Given the description of an element on the screen output the (x, y) to click on. 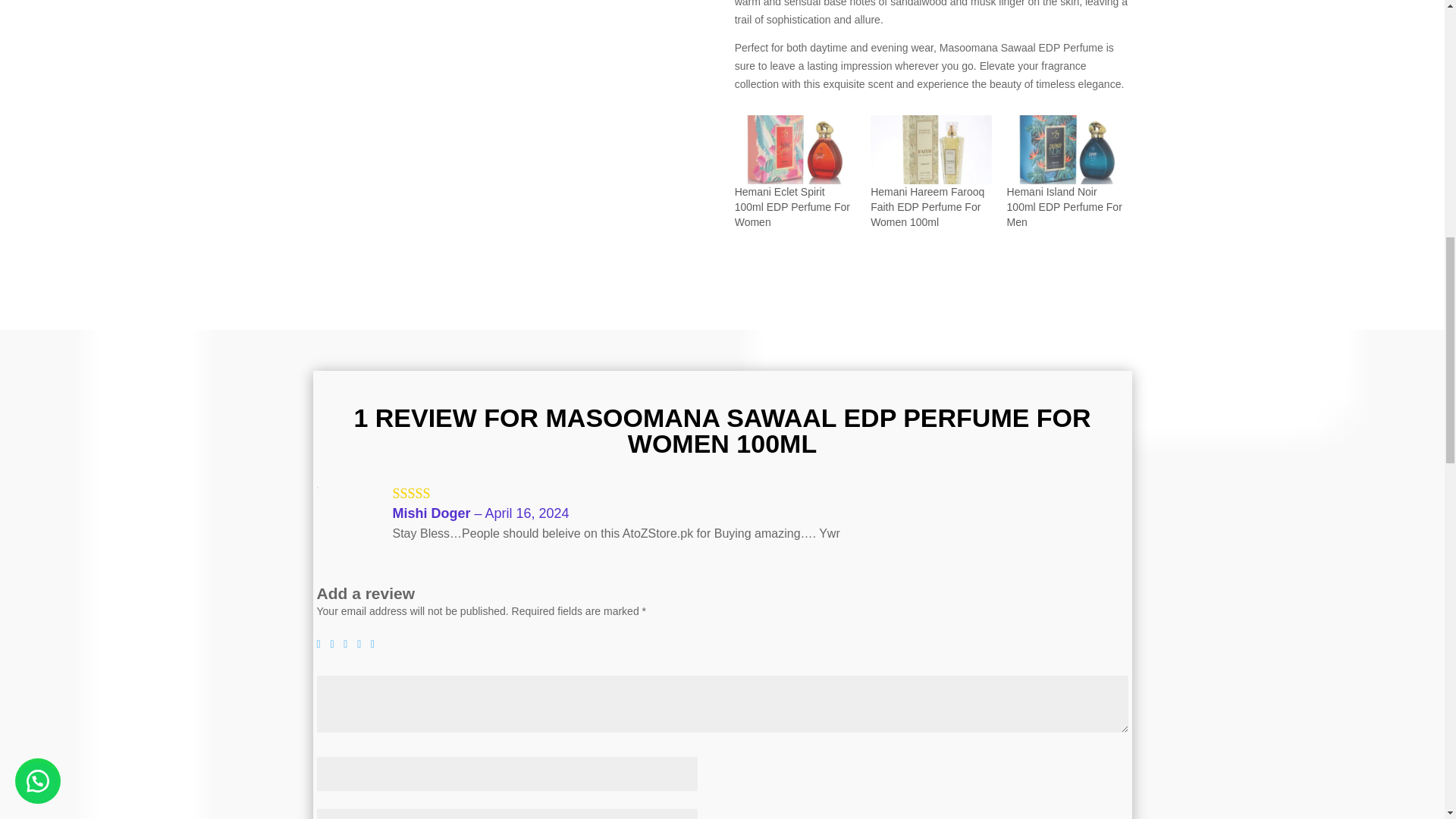
Hemani Hareem Farooq Faith EDP Perfume For Women 100ml (930, 149)
Hemani Eclet Spirit 100ml EDP Perfume For Women (792, 206)
Hemani Island Noir 100ml EDP Perfume For Men (1064, 206)
Hemani Island Noir 100ml EDP Perfume For Men (1066, 149)
Hemani Hareem Farooq Faith EDP Perfume For Women 100ml (927, 206)
Hemani Eclet Spirit 100ml EDP Perfume For Women (795, 149)
